Given the description of an element on the screen output the (x, y) to click on. 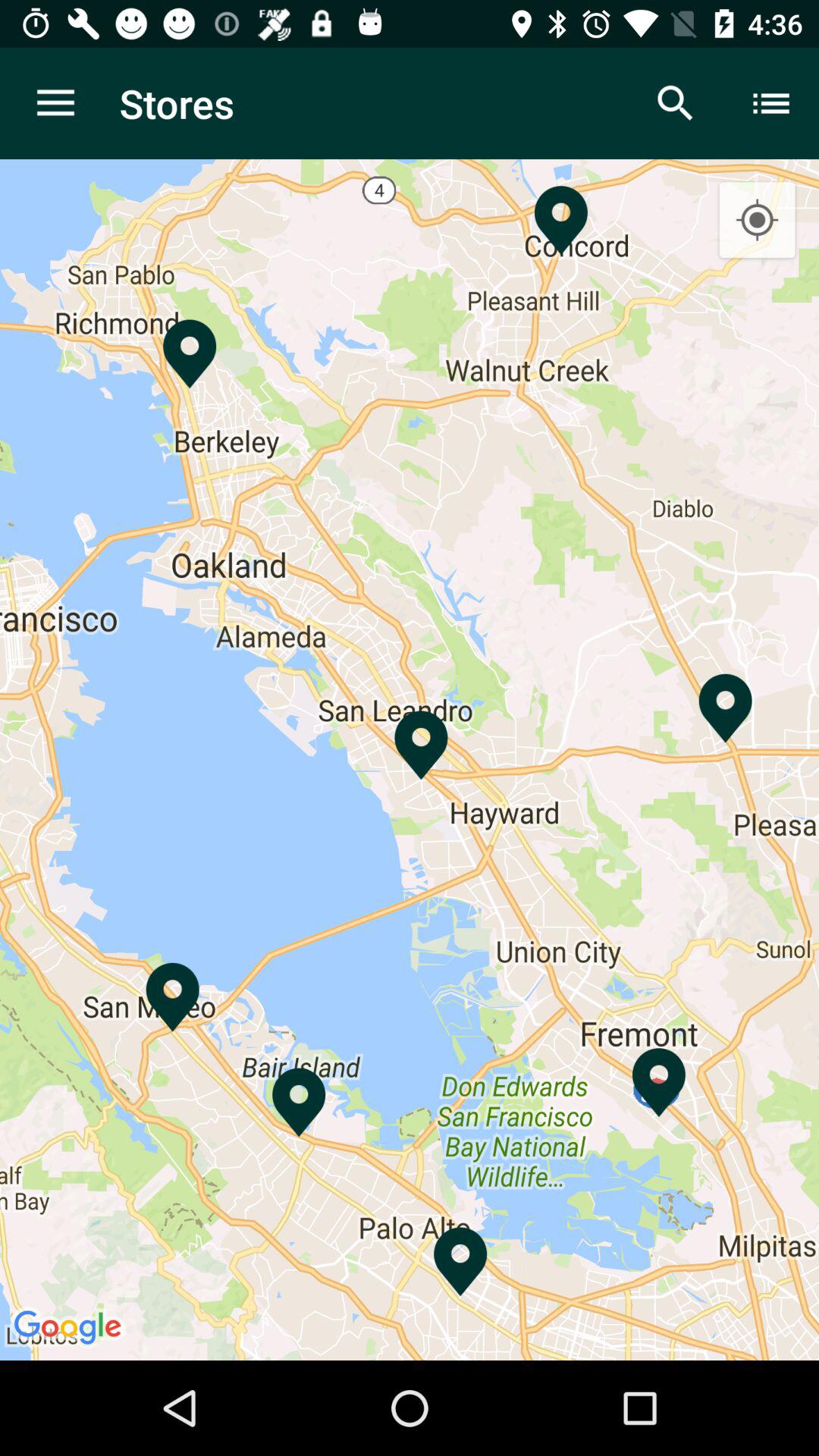
tap app to the left of stores item (55, 103)
